Given the description of an element on the screen output the (x, y) to click on. 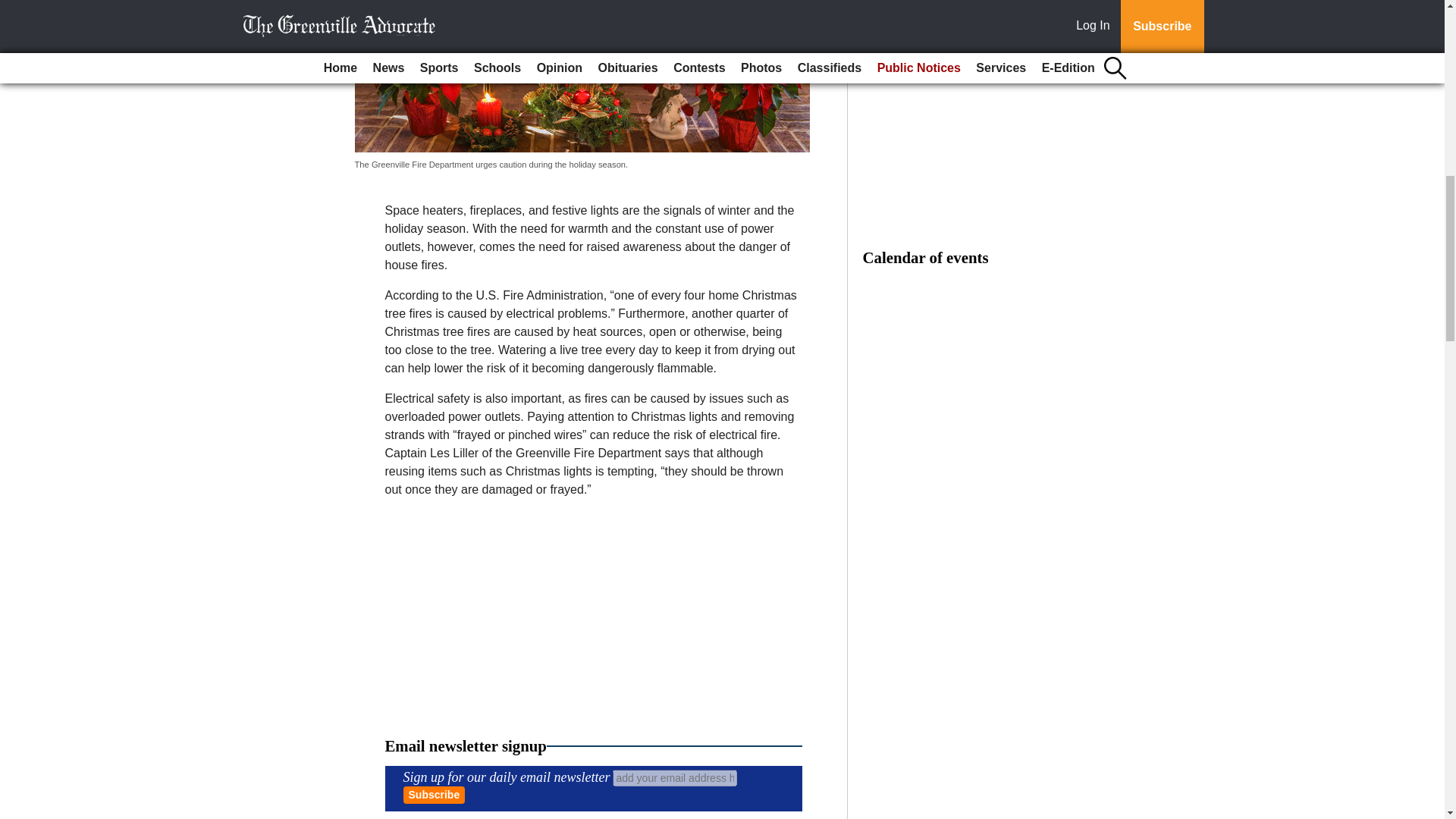
Subscribe (434, 794)
Subscribe (434, 794)
